Given the description of an element on the screen output the (x, y) to click on. 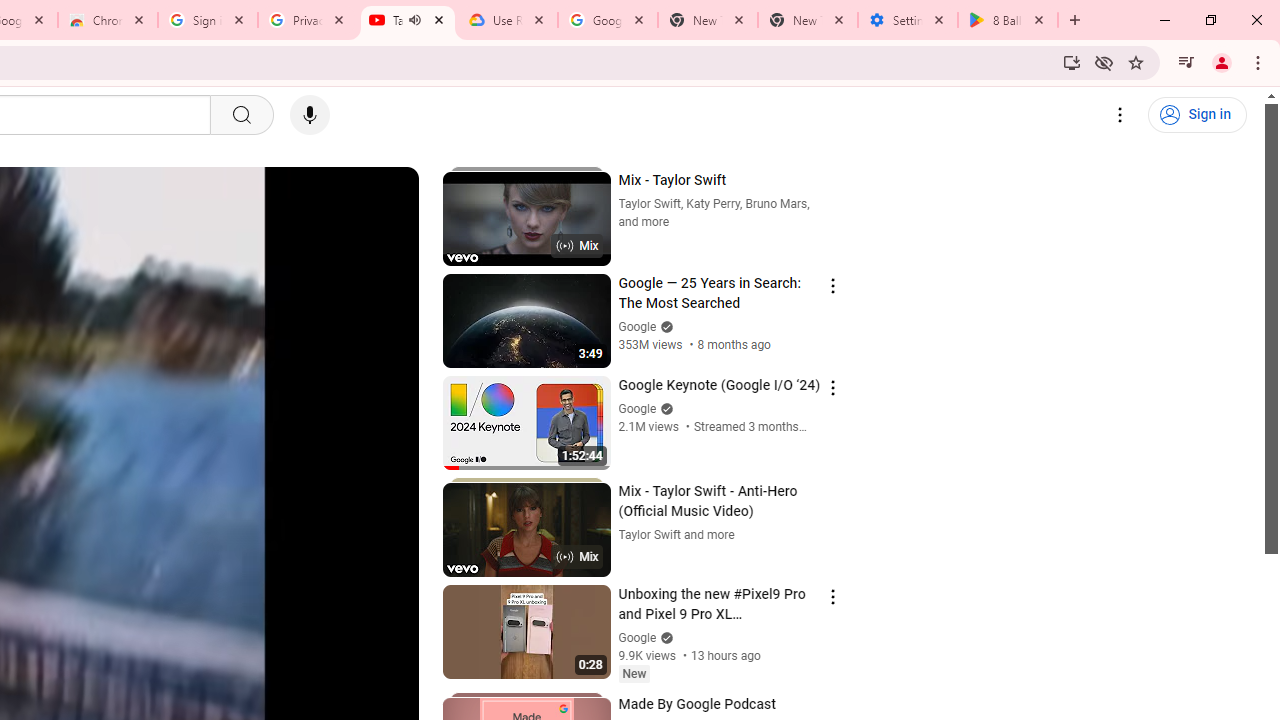
New Tab (807, 20)
Chrome Web Store - Color themes by Chrome (107, 20)
Settings - System (907, 20)
Sign in - Google Accounts (207, 20)
